Given the description of an element on the screen output the (x, y) to click on. 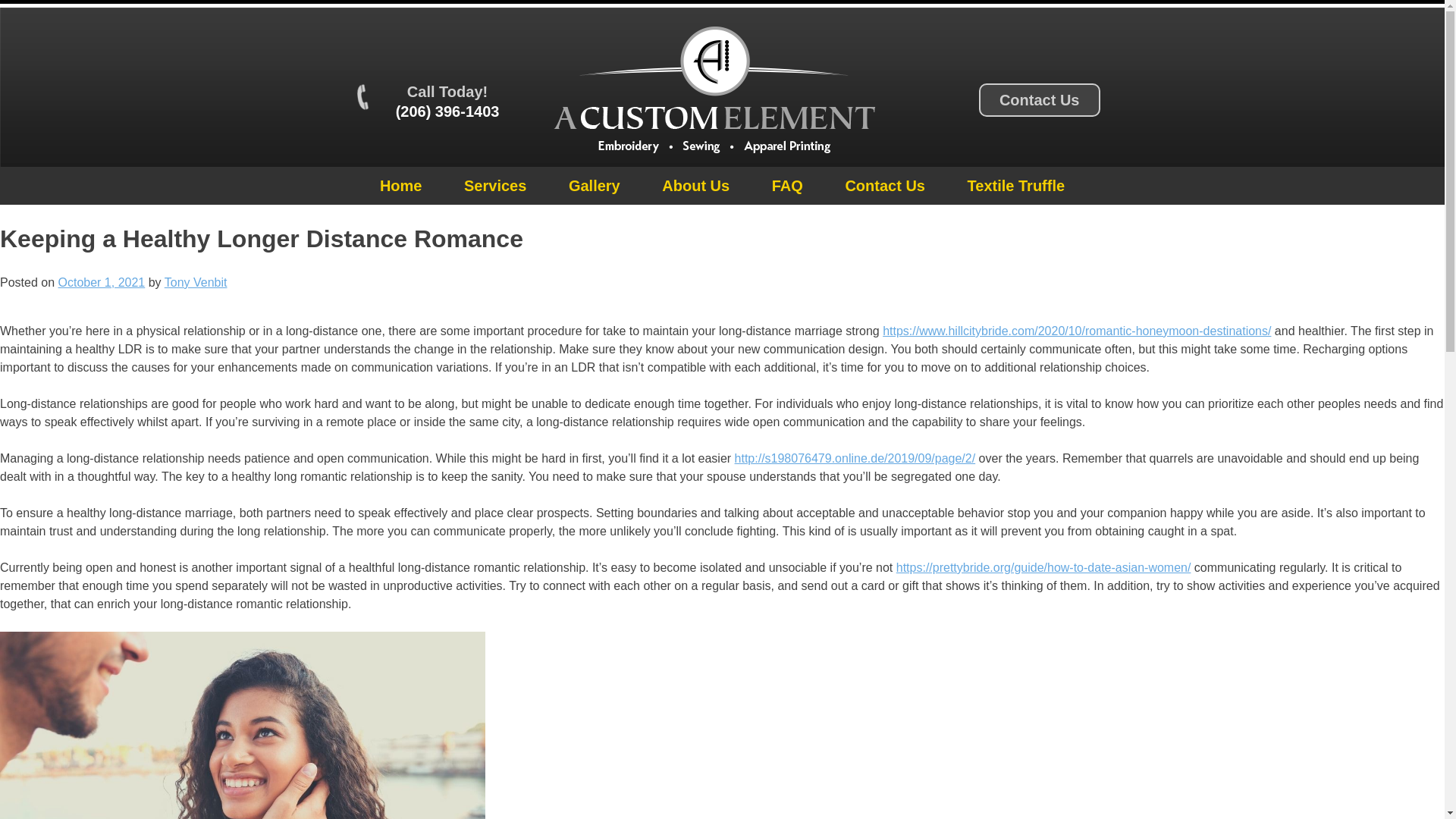
Textile Truffle (1016, 185)
Gallery (594, 185)
October 1, 2021 (101, 282)
Tony Venbit (195, 282)
Services (494, 185)
FAQ (787, 185)
Contact Us (1039, 100)
Contact Us (1039, 101)
Contact Us (884, 185)
About Us (695, 185)
